Given the description of an element on the screen output the (x, y) to click on. 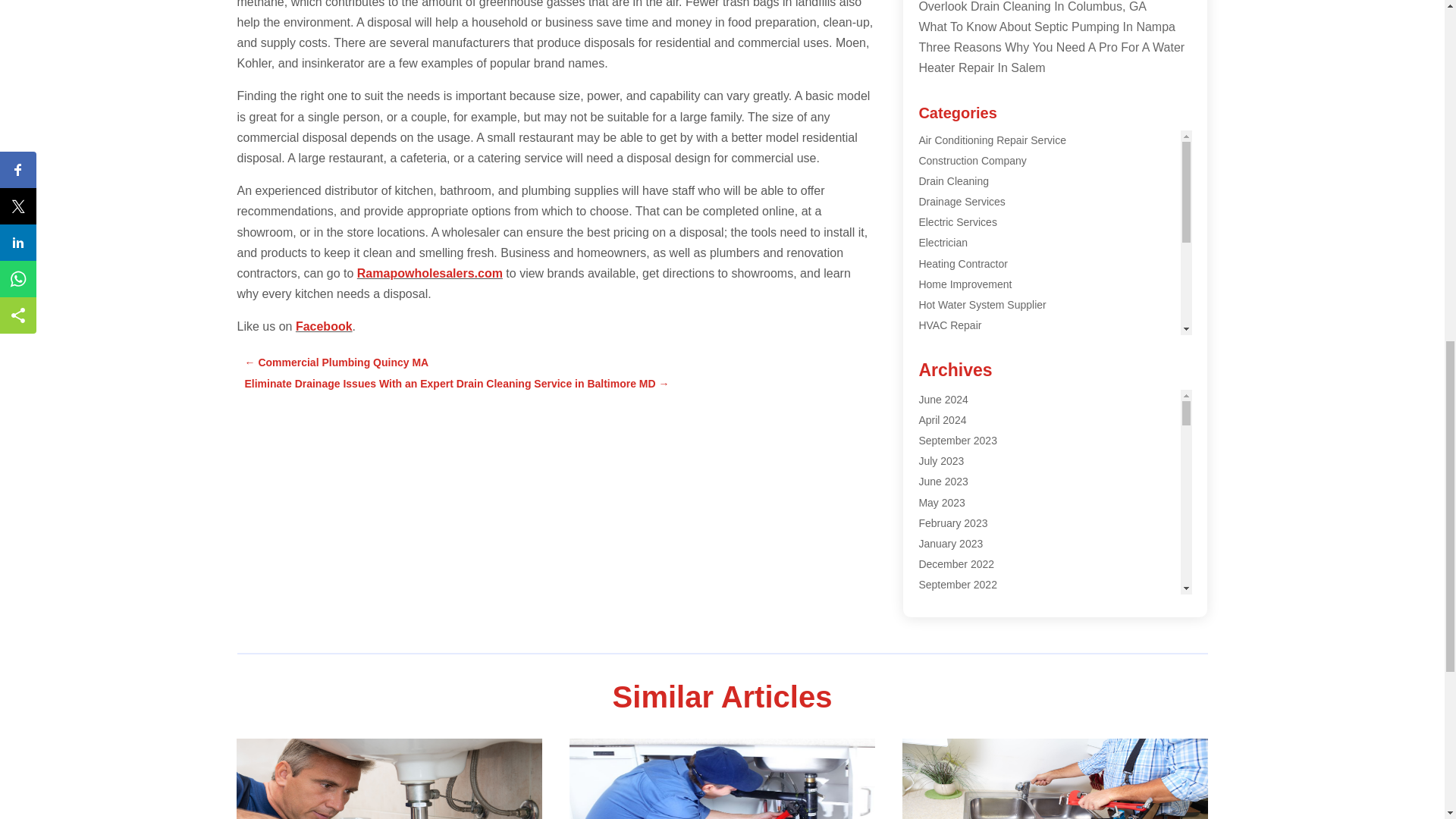
Home Improvement (964, 284)
Plumbing (940, 367)
Electric Services (956, 222)
Heating Contractor (962, 263)
Plumber (938, 345)
Plumbing Accessories (970, 387)
Construction Company (972, 160)
Electrician (943, 242)
Hot Water System Supplier (981, 304)
Facebook (323, 326)
Drain Cleaning (953, 181)
HVAC Repair (949, 325)
Air Conditioning Repair Service (991, 140)
